Given the description of an element on the screen output the (x, y) to click on. 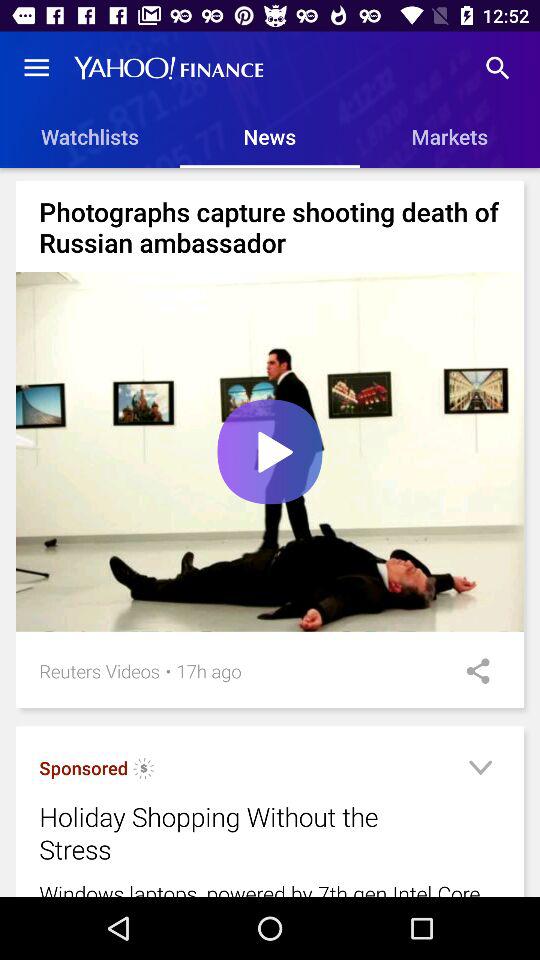
select expand more button (480, 770)
